Given the description of an element on the screen output the (x, y) to click on. 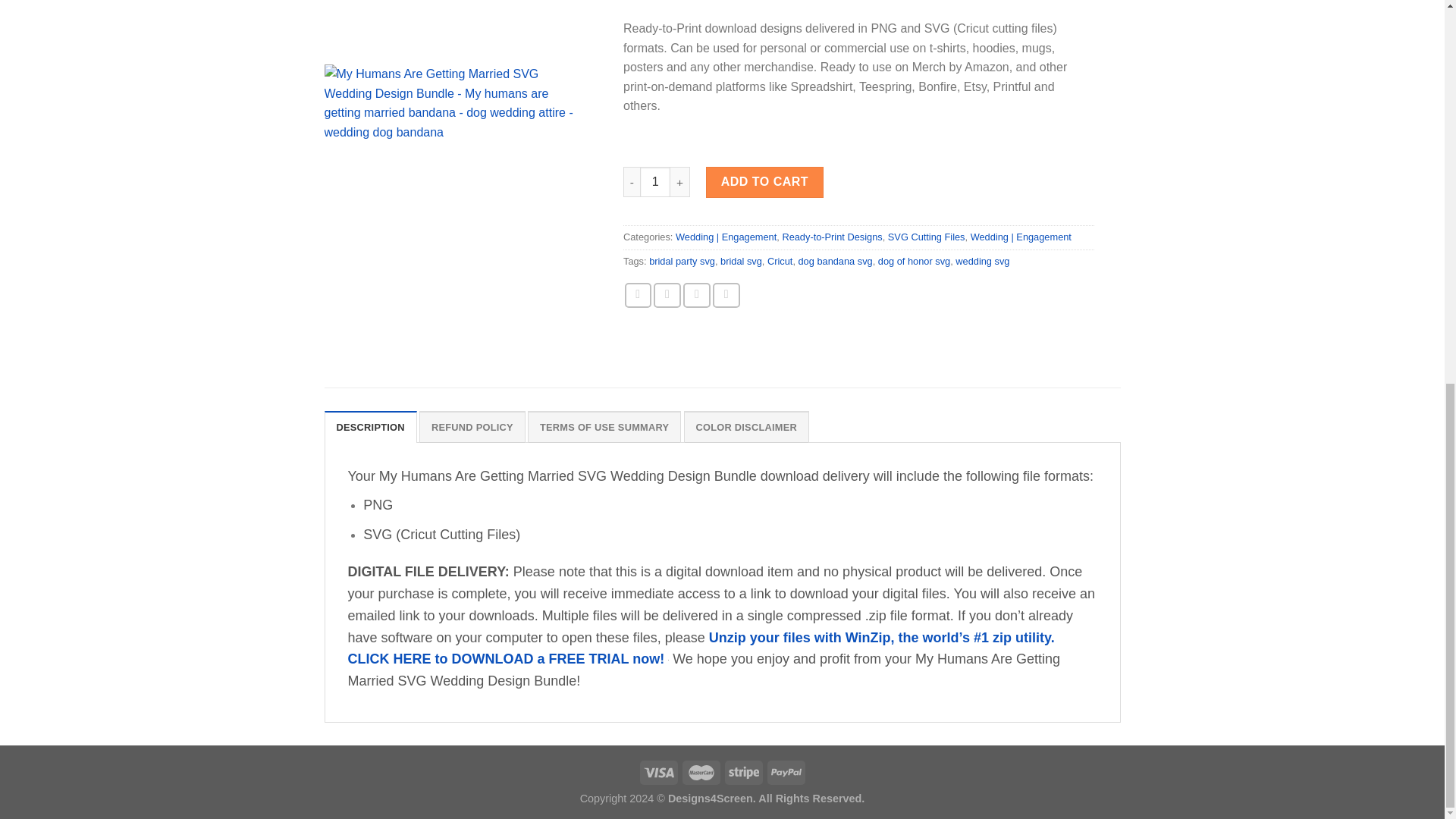
SVG Cutting Files (926, 143)
Ready-to-Print Designs (831, 143)
1 (654, 89)
ADD TO CART (765, 89)
